Given the description of an element on the screen output the (x, y) to click on. 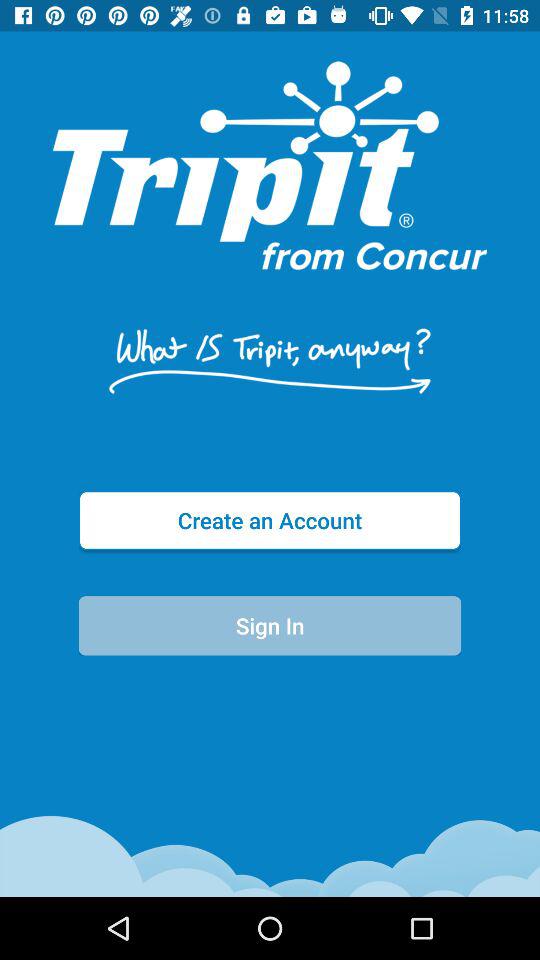
tap the icon above the create an account (269, 360)
